Given the description of an element on the screen output the (x, y) to click on. 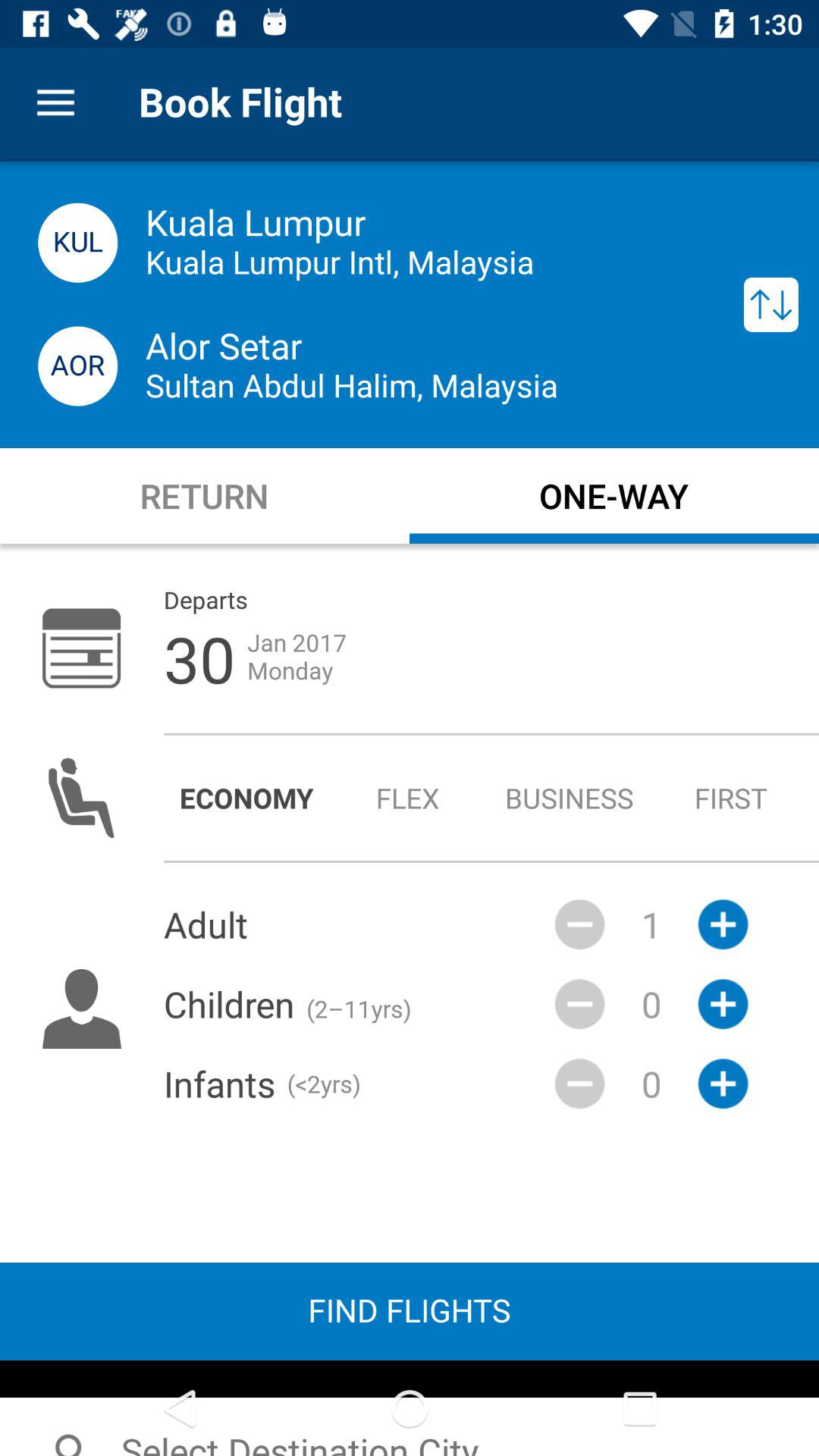
select the 1 which is beside the  icon (650, 924)
click the plus icon which is next to the 1 (722, 925)
select the first icon which is beside the 0 (579, 1003)
click on the icon which is beside the infants (579, 1083)
select the icon which is next to 1 (722, 1003)
